Given the description of an element on the screen output the (x, y) to click on. 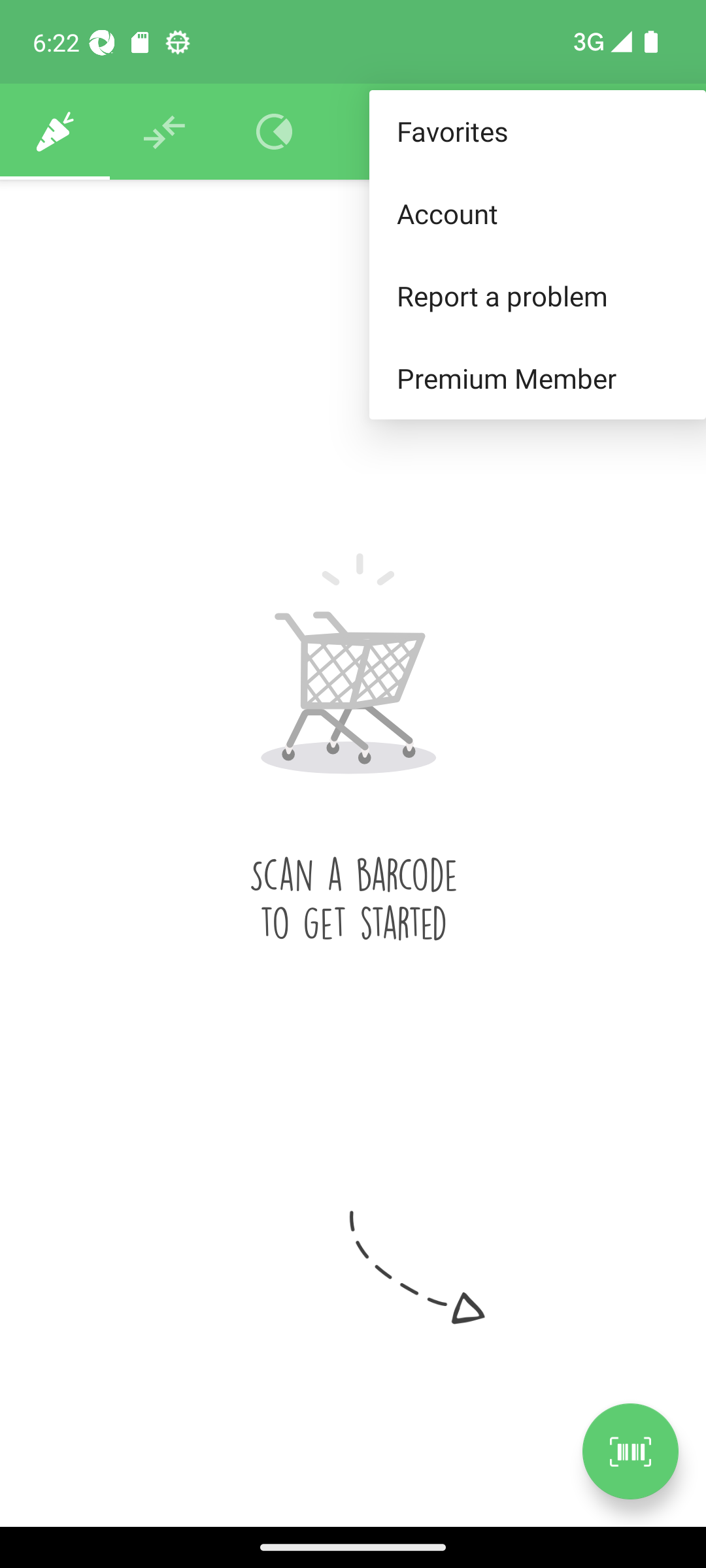
Favorites (537, 131)
Account (537, 213)
Report a problem (537, 295)
Premium Member (537, 378)
